Given the description of an element on the screen output the (x, y) to click on. 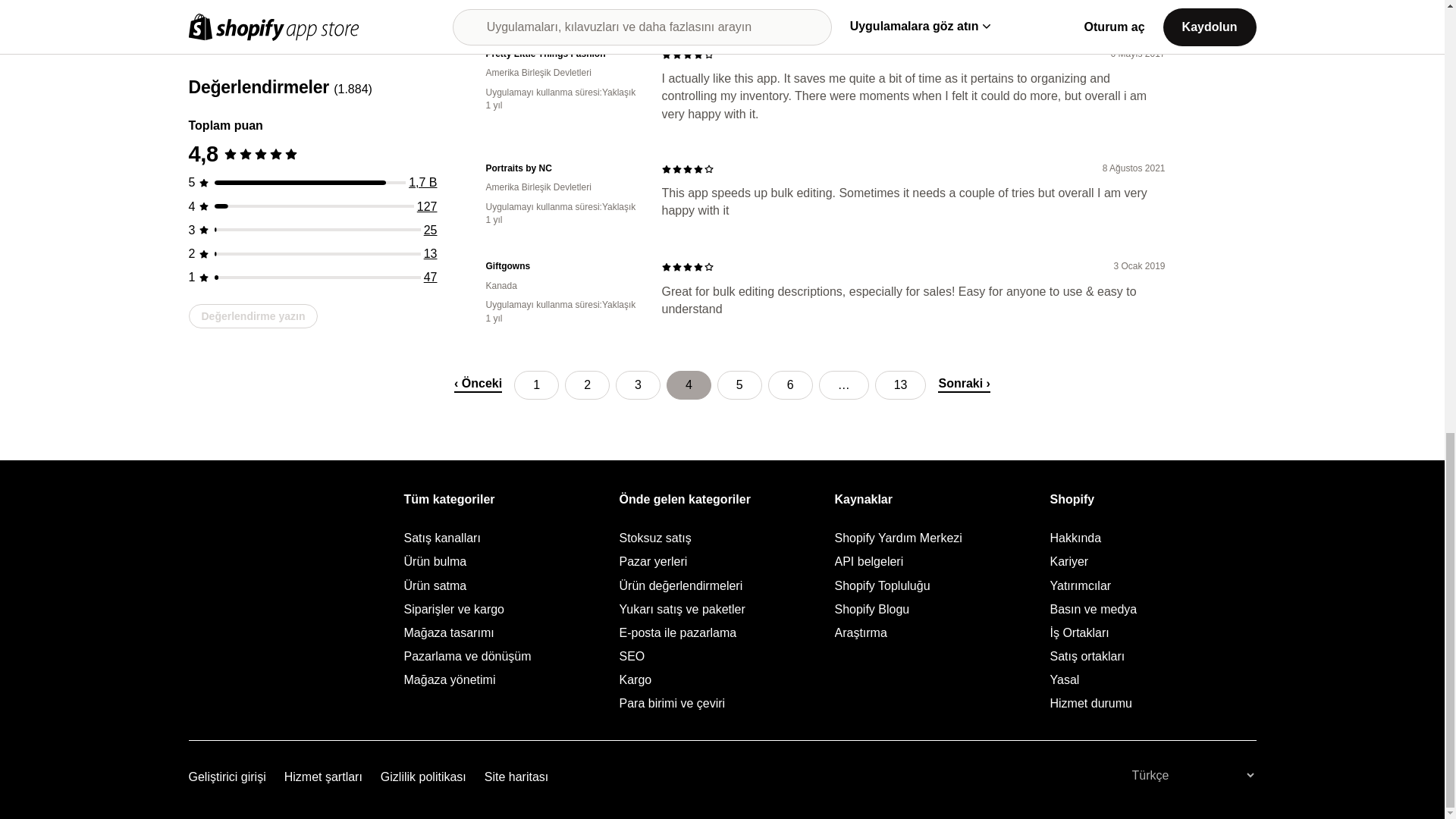
Giftgowns (560, 266)
Portraits by NC (560, 168)
Pretty Little Things Fashion (560, 53)
